Given the description of an element on the screen output the (x, y) to click on. 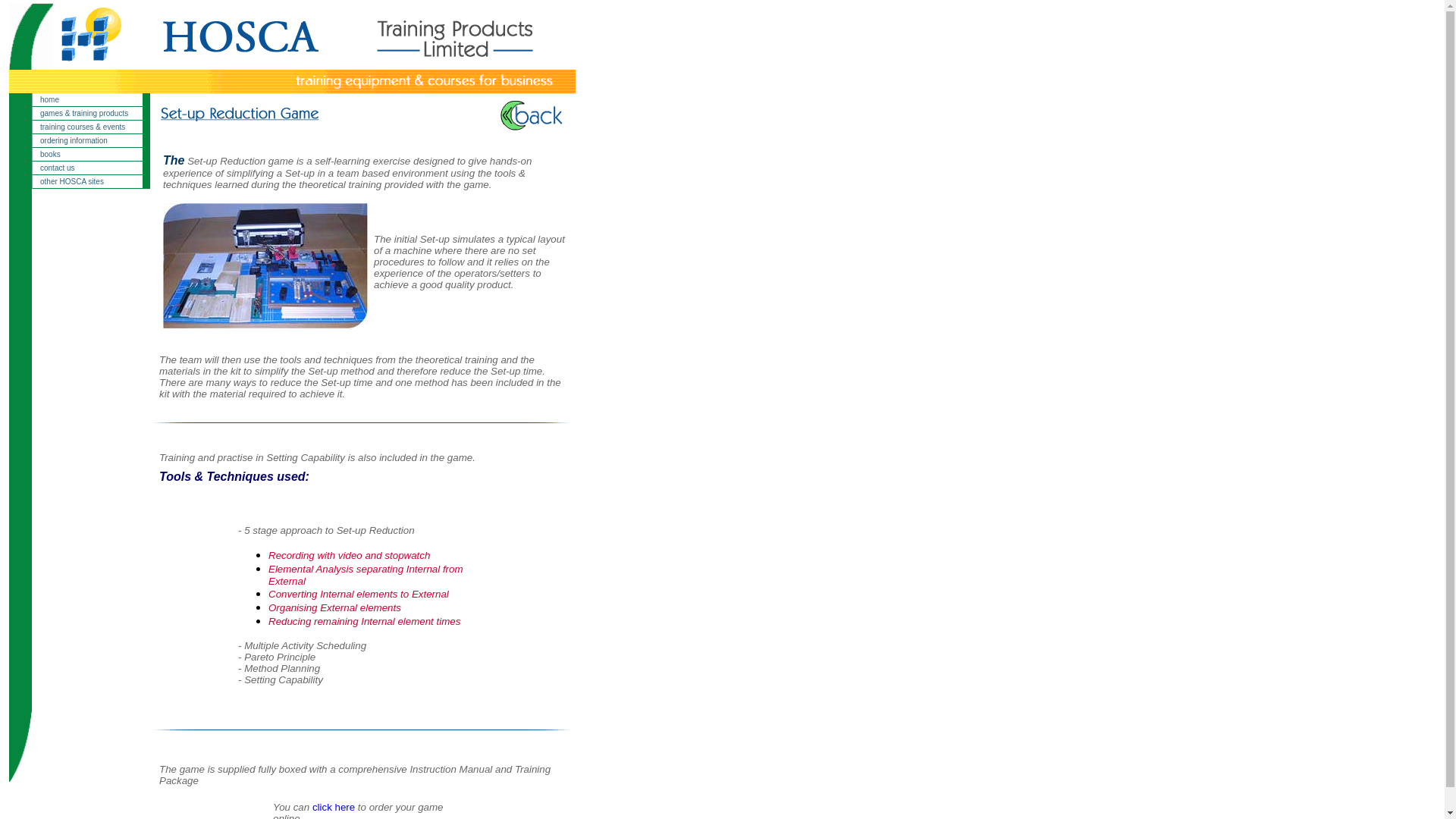
click here (334, 807)
home (90, 100)
books (90, 154)
ordering information (90, 141)
contact us (90, 168)
other HOSCA sites (90, 182)
